Given the description of an element on the screen output the (x, y) to click on. 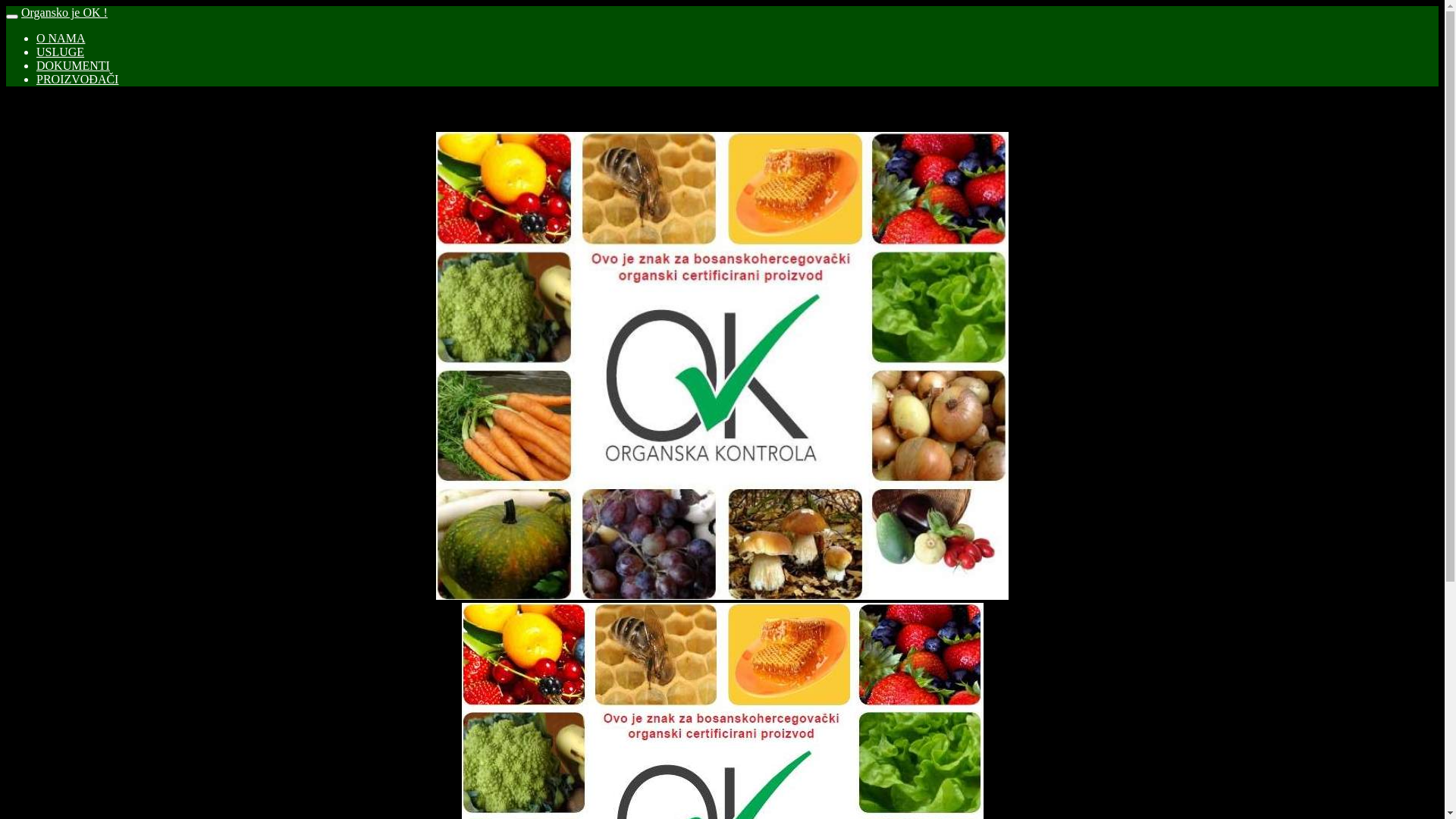
O NAMA Element type: text (60, 37)
Organsko je OK ! Element type: text (64, 12)
DOKUMENTI Element type: text (72, 65)
USLUGE Element type: text (60, 51)
